Given the description of an element on the screen output the (x, y) to click on. 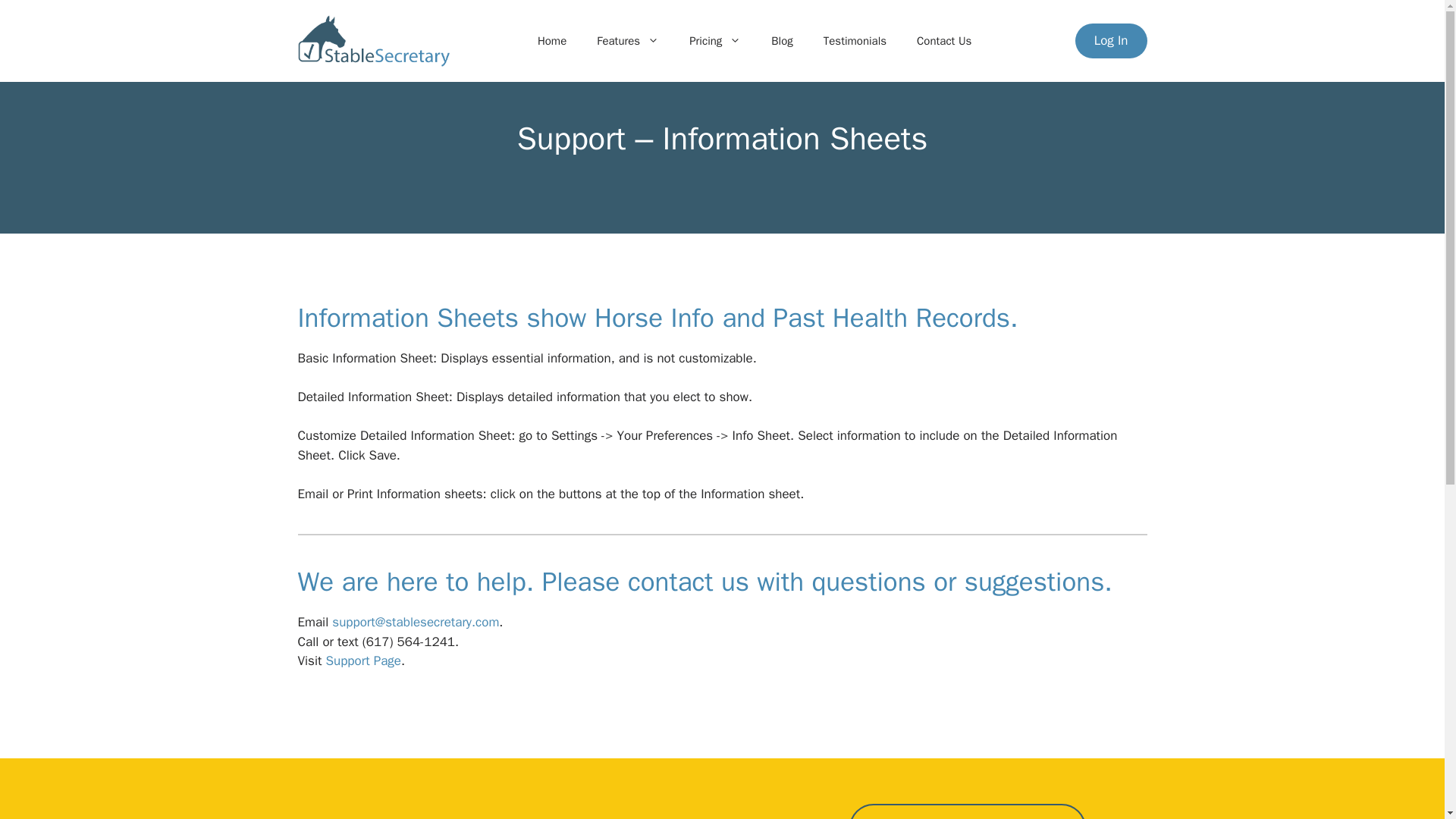
Sign-Up for a Free 30-Day Trial (967, 811)
Support Page (363, 660)
Blog (781, 40)
Log In (1111, 40)
Home (551, 40)
Contact Us (944, 40)
Features (627, 40)
Testimonials (854, 40)
Pricing (714, 40)
